Given the description of an element on the screen output the (x, y) to click on. 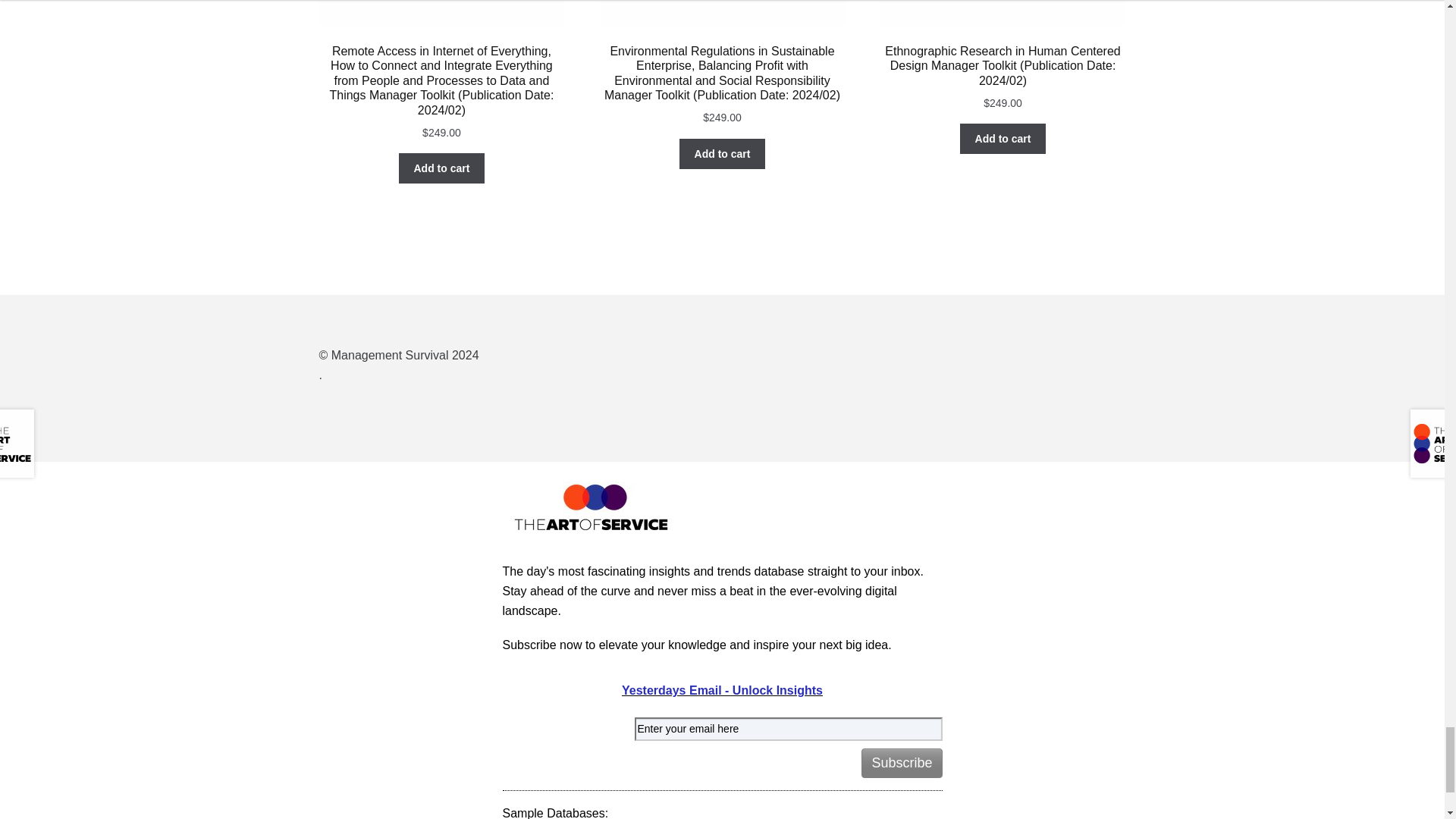
Subscribe (901, 763)
Enter your email here (787, 729)
Add to cart (1002, 138)
Add to cart (441, 168)
Add to cart (722, 153)
